Given the description of an element on the screen output the (x, y) to click on. 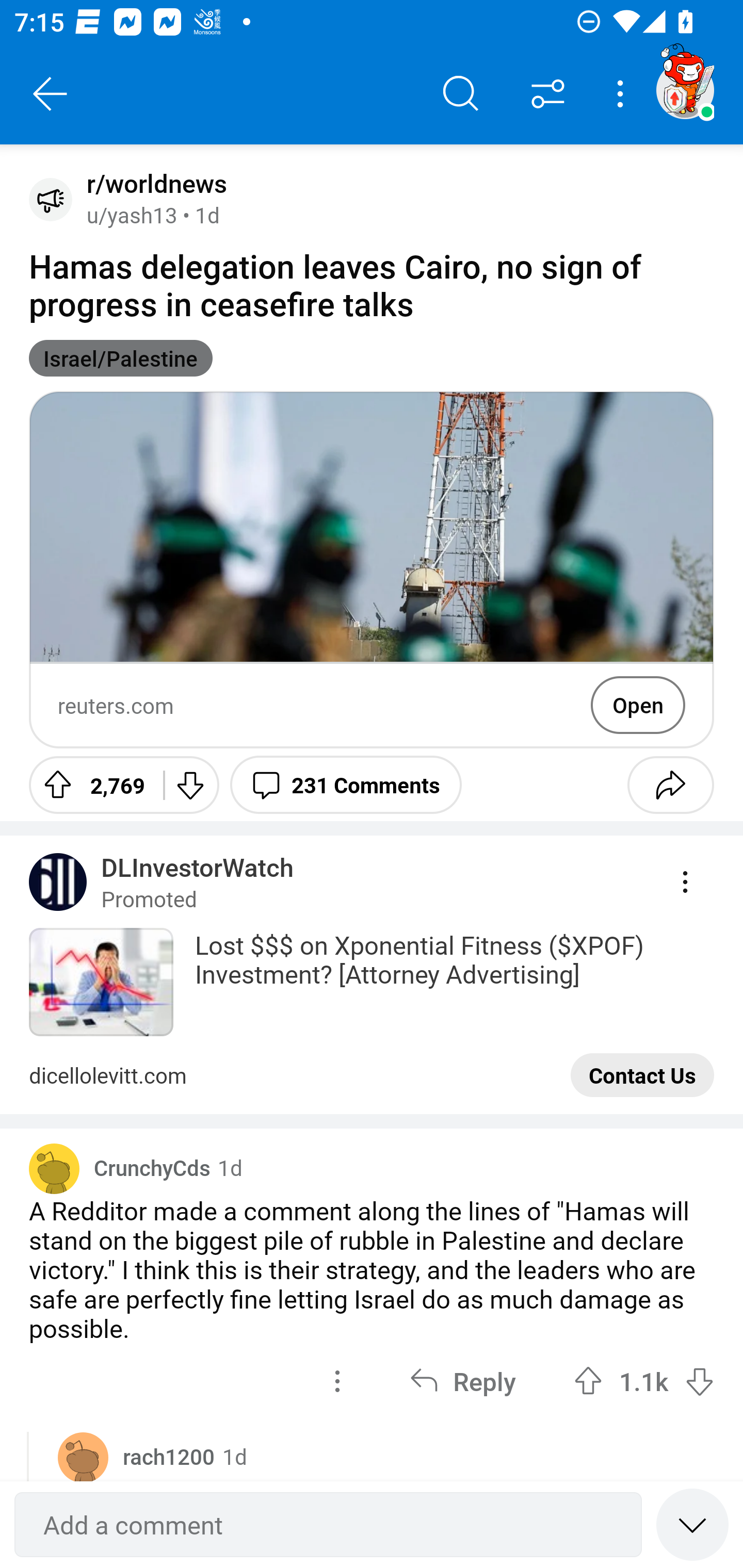
Back (50, 93)
TestAppium002 account (685, 90)
Search comments (460, 93)
Sort comments (547, 93)
More options (623, 93)
r/worldnews (153, 183)
Avatar (50, 199)
Israel/Palestine (120, 358)
Preview Image reuters.com Open (371, 568)
Open (637, 704)
Upvote 2,769 (88, 784)
Downvote (189, 784)
231 Comments (346, 784)
Share (670, 784)
Avatar (53, 1168)
options (337, 1381)
Reply (462, 1381)
Upvote 1.1k 1133 votes Downvote (643, 1381)
Avatar (82, 1456)
Speed read (692, 1524)
Add a comment (327, 1524)
